Given the description of an element on the screen output the (x, y) to click on. 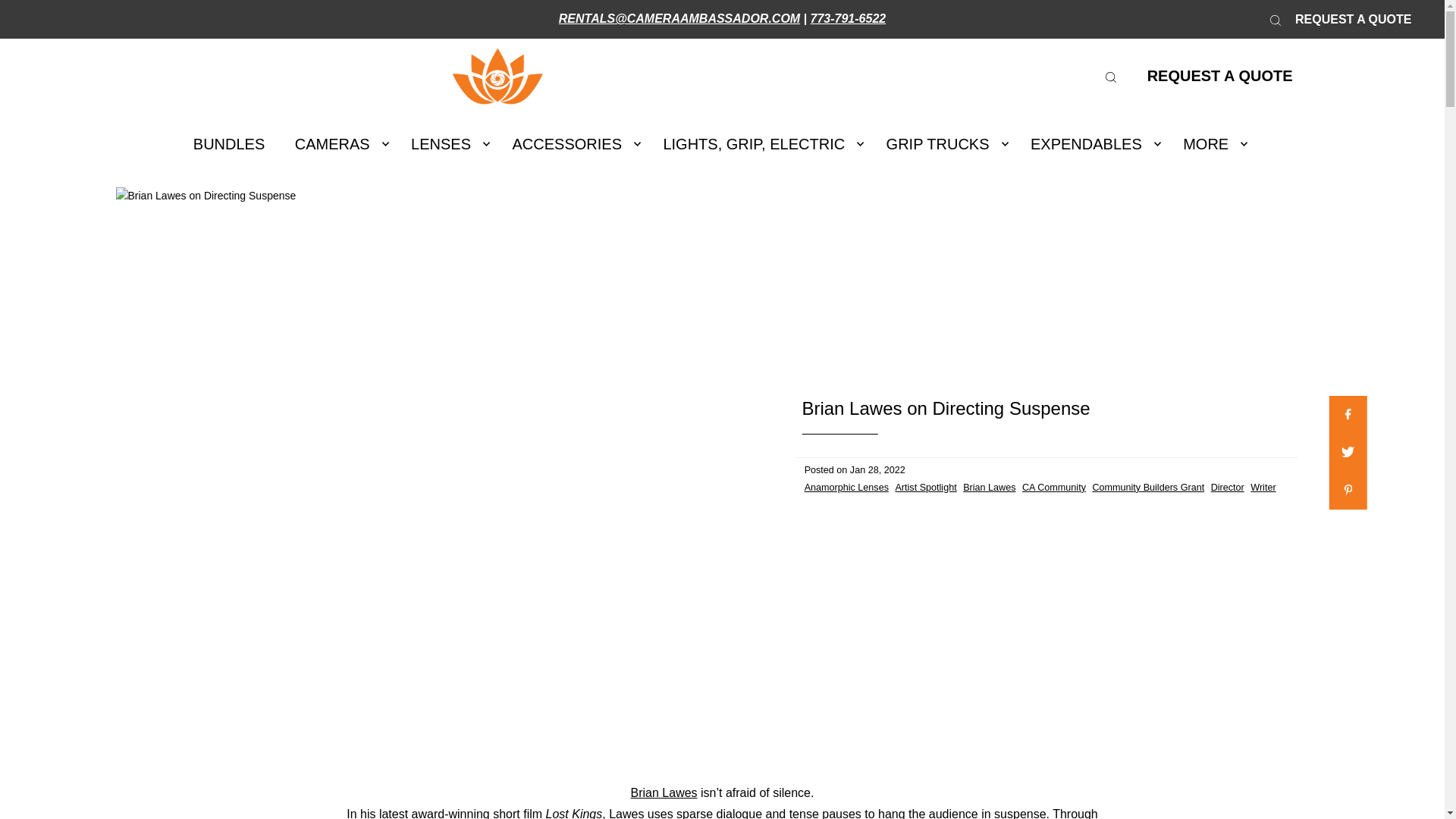
Share on Pinterest (1348, 490)
LENSES (446, 143)
CAMERAS (337, 143)
BUNDLES (229, 143)
REQUEST A QUOTE (1353, 19)
Share on Facebook (1348, 414)
773-791-6522 (848, 18)
tel:7737916522 (848, 18)
Share on Twitter (1348, 452)
